Given the description of an element on the screen output the (x, y) to click on. 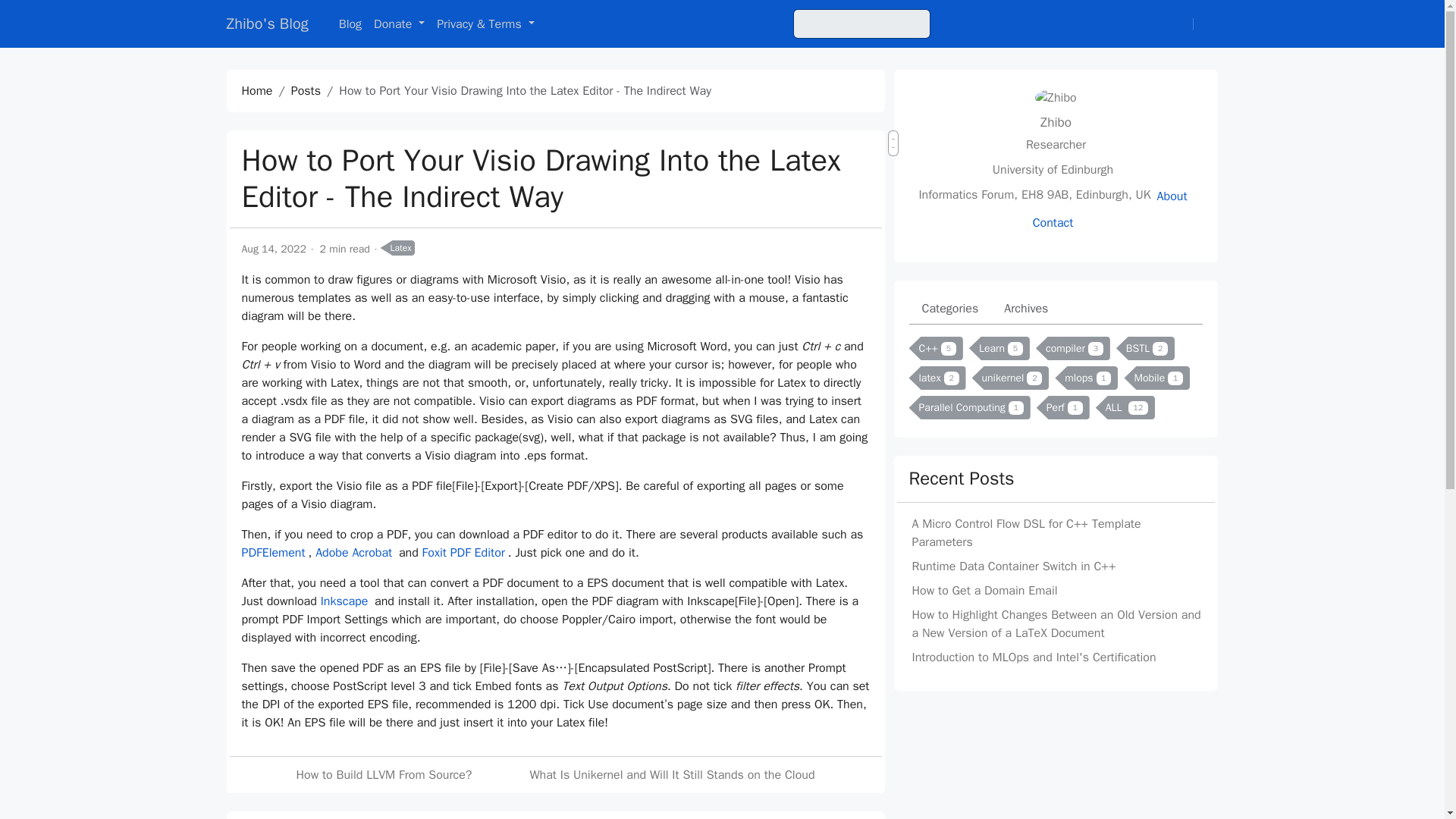
Parallel Computing (968, 407)
Posts (305, 90)
RSS (1188, 24)
Mobile (1156, 377)
Zhibo's Blog (266, 24)
Learn (999, 348)
GitHub (1182, 24)
LinkedIn (1061, 241)
unikernel (1010, 377)
latex (936, 377)
